Given the description of an element on the screen output the (x, y) to click on. 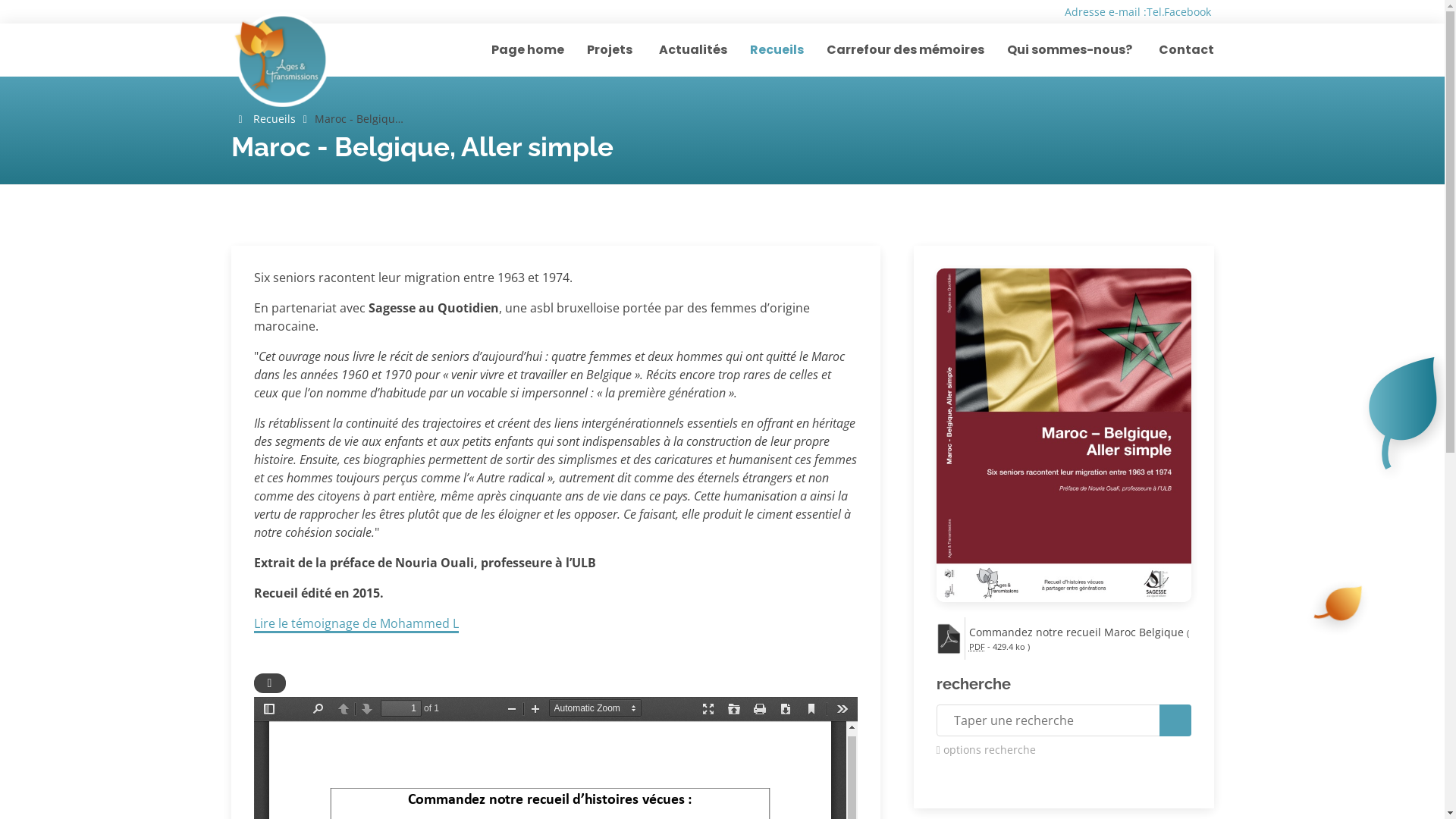
Recueils Element type: text (764, 49)
Projets Element type: text (600, 49)
Facebook Element type: text (1188, 11)
Page home Element type: text (513, 49)
Bureau - Sylvie Lerot & Marie Dehou +32 (0)2 514 45 61 Element type: text (1267, 10)
Qui sommes-nous? Element type: text (1059, 49)
Recueils Element type: text (274, 118)
options recherche Element type: text (1062, 749)
Commandez notre recueil Maroc Belgique ( PDF - 429.4 ko ) Element type: text (1080, 638)
Contact Element type: text (1174, 49)
